Given the description of an element on the screen output the (x, y) to click on. 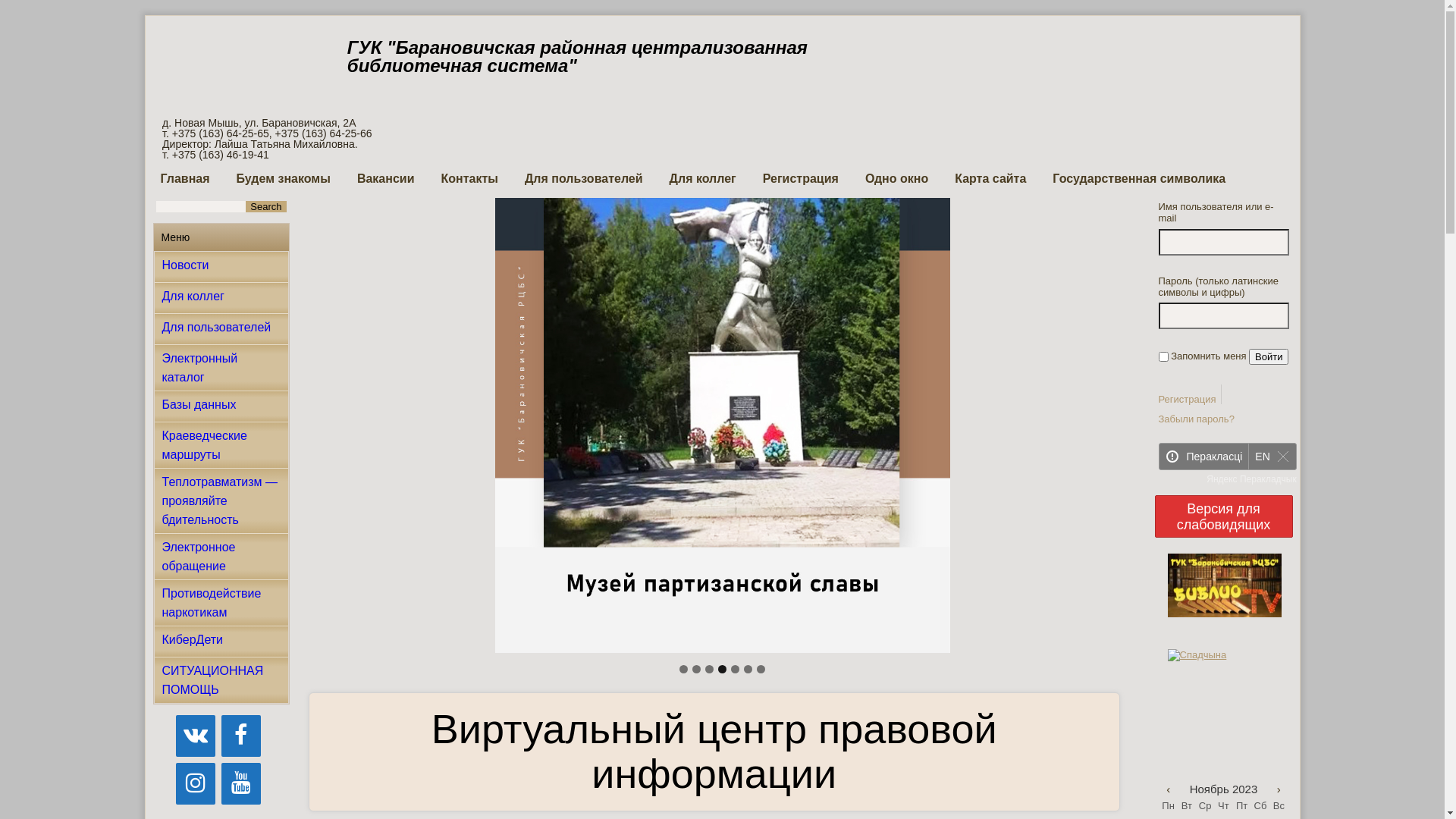
Instagram Element type: hover (195, 783)
YouTube Element type: hover (240, 783)
Facebook Element type: hover (240, 735)
kraevedch Element type: hover (721, 424)
Search Element type: text (265, 206)
VK Element type: hover (195, 735)
